Given the description of an element on the screen output the (x, y) to click on. 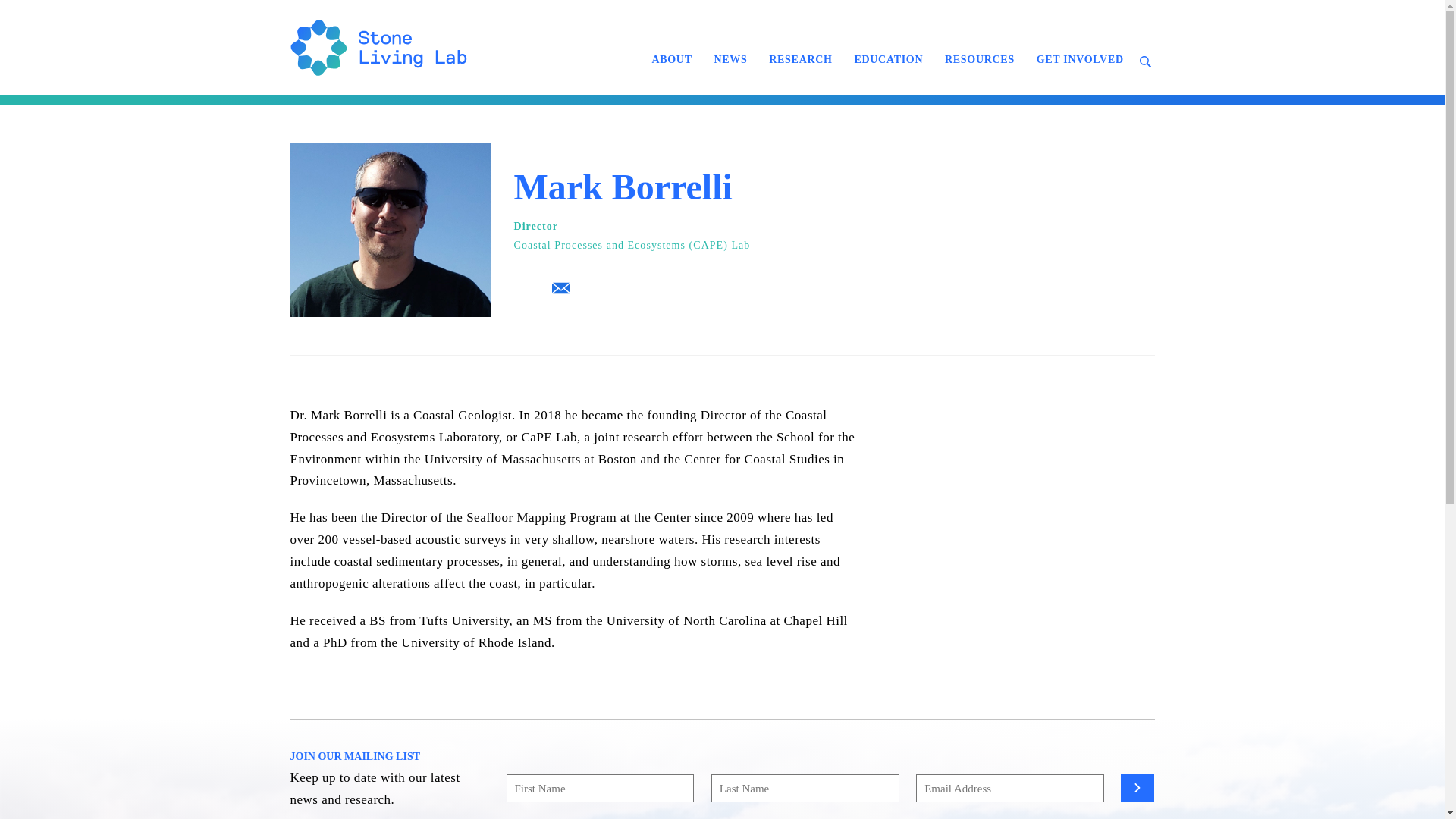
First Name (600, 787)
Last Name (805, 787)
EDUCATION (887, 59)
RESOURCES (979, 59)
RESEARCH (800, 59)
ABOUT (671, 59)
NEWS (729, 59)
Email Address (1009, 787)
GET INVOLVED (1079, 59)
